Given the description of an element on the screen output the (x, y) to click on. 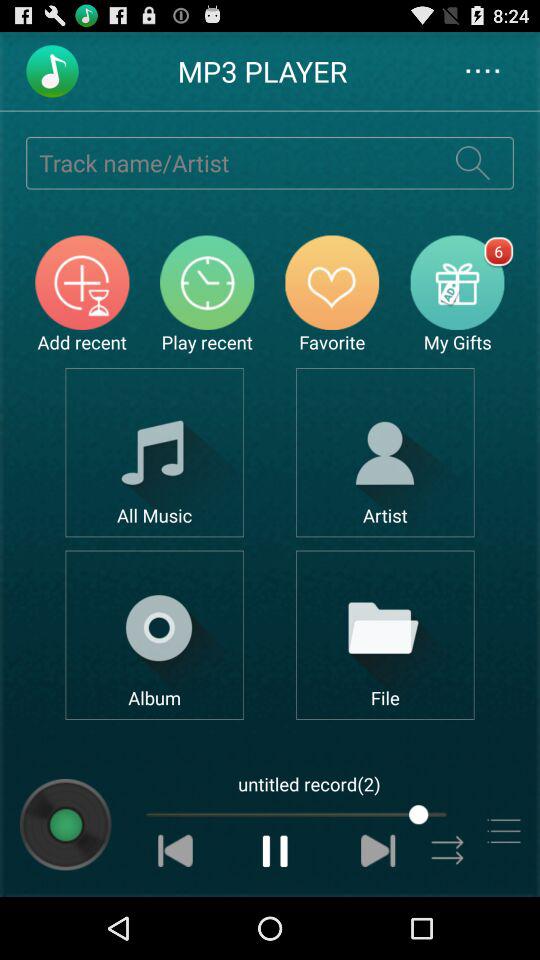
search for track name or artist (229, 162)
